Given the description of an element on the screen output the (x, y) to click on. 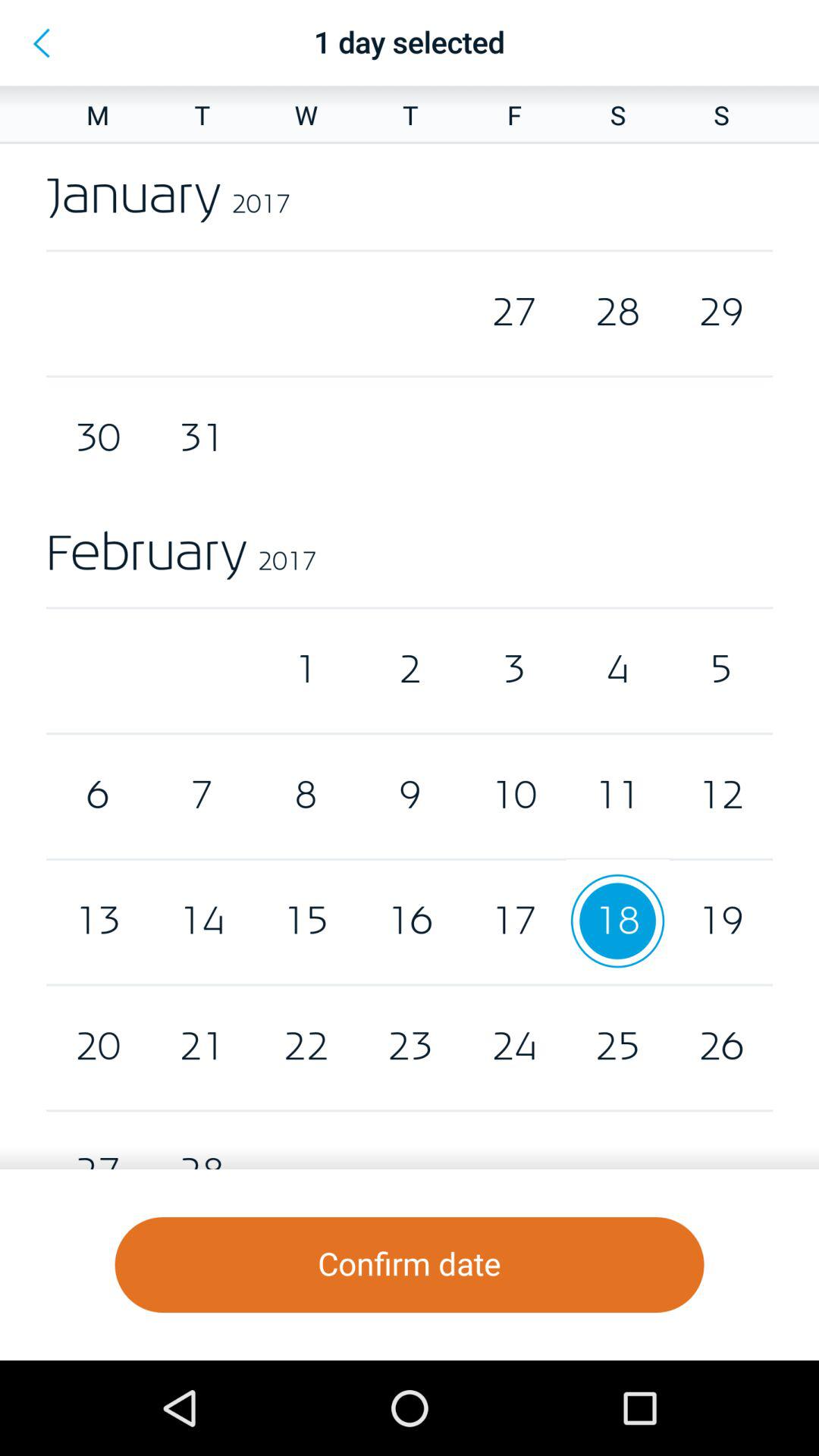
press the icon below the 27 (409, 1264)
